Given the description of an element on the screen output the (x, y) to click on. 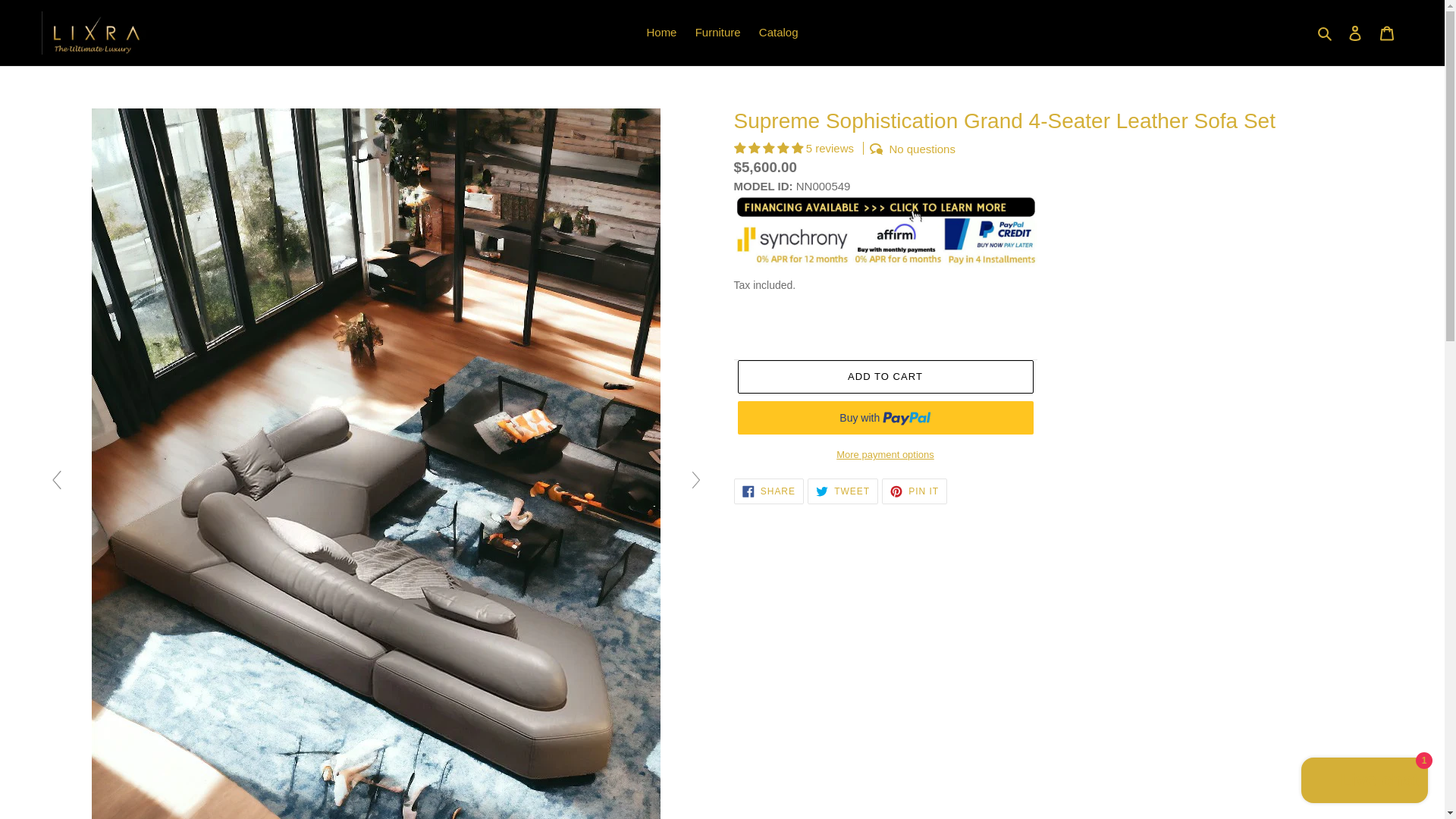
Furniture (768, 491)
Catalog (717, 33)
Search (778, 33)
Hover to zoom (1326, 32)
Home (376, 486)
ADD TO CART (842, 491)
Cart (914, 491)
More payment options (661, 33)
Log in (884, 376)
